Given the description of an element on the screen output the (x, y) to click on. 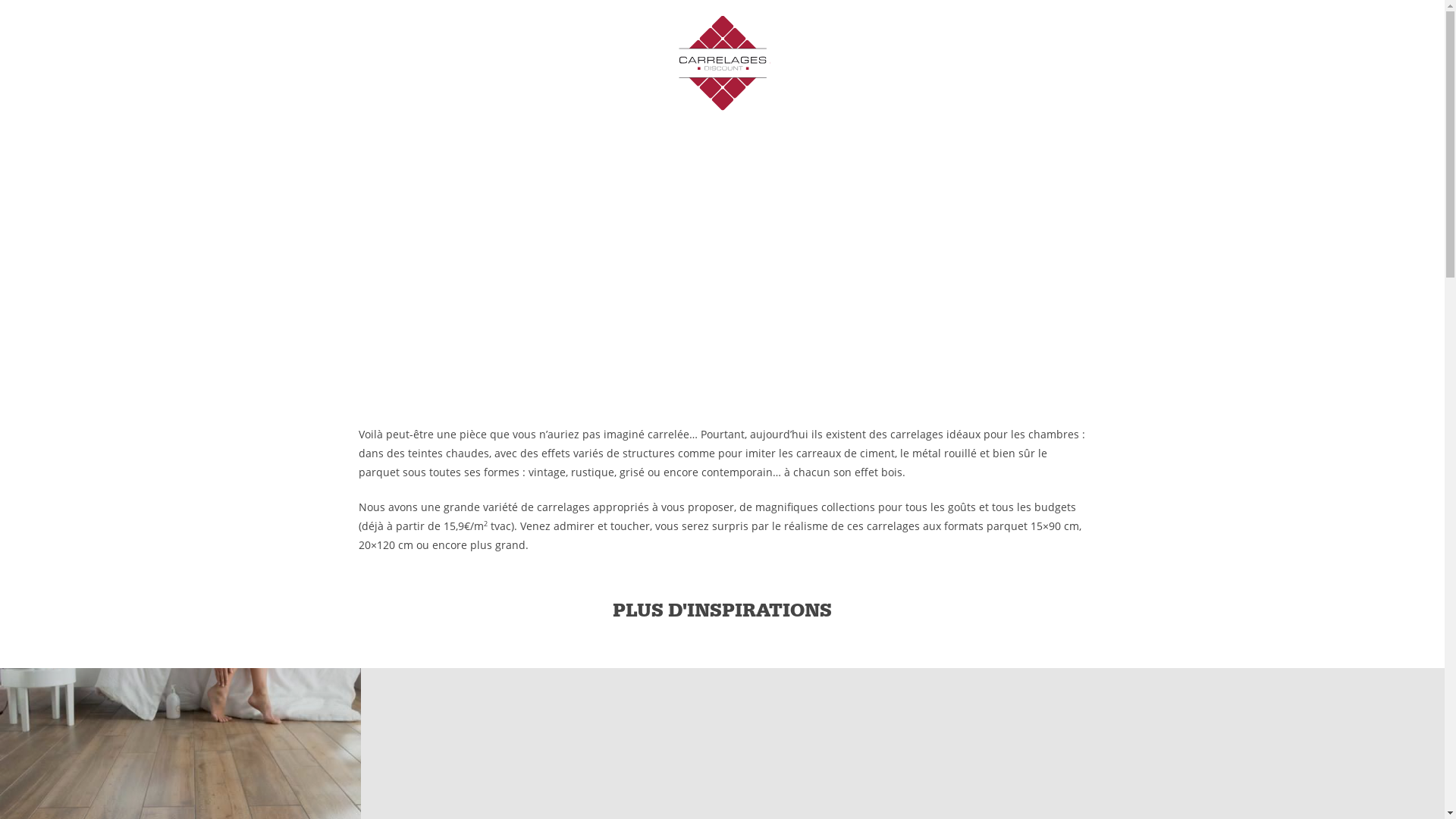
NOS CARRELAGES Element type: text (527, 51)
Recevoir Element type: text (617, 482)
SHOWROOM Element type: text (1031, 51)
Horaires Element type: text (992, 18)
PROMOTIONS Element type: text (907, 51)
ACCUEIL Element type: text (297, 51)
CONTACT Element type: text (1144, 51)
A PROPOS Element type: text (399, 51)
